Given the description of an element on the screen output the (x, y) to click on. 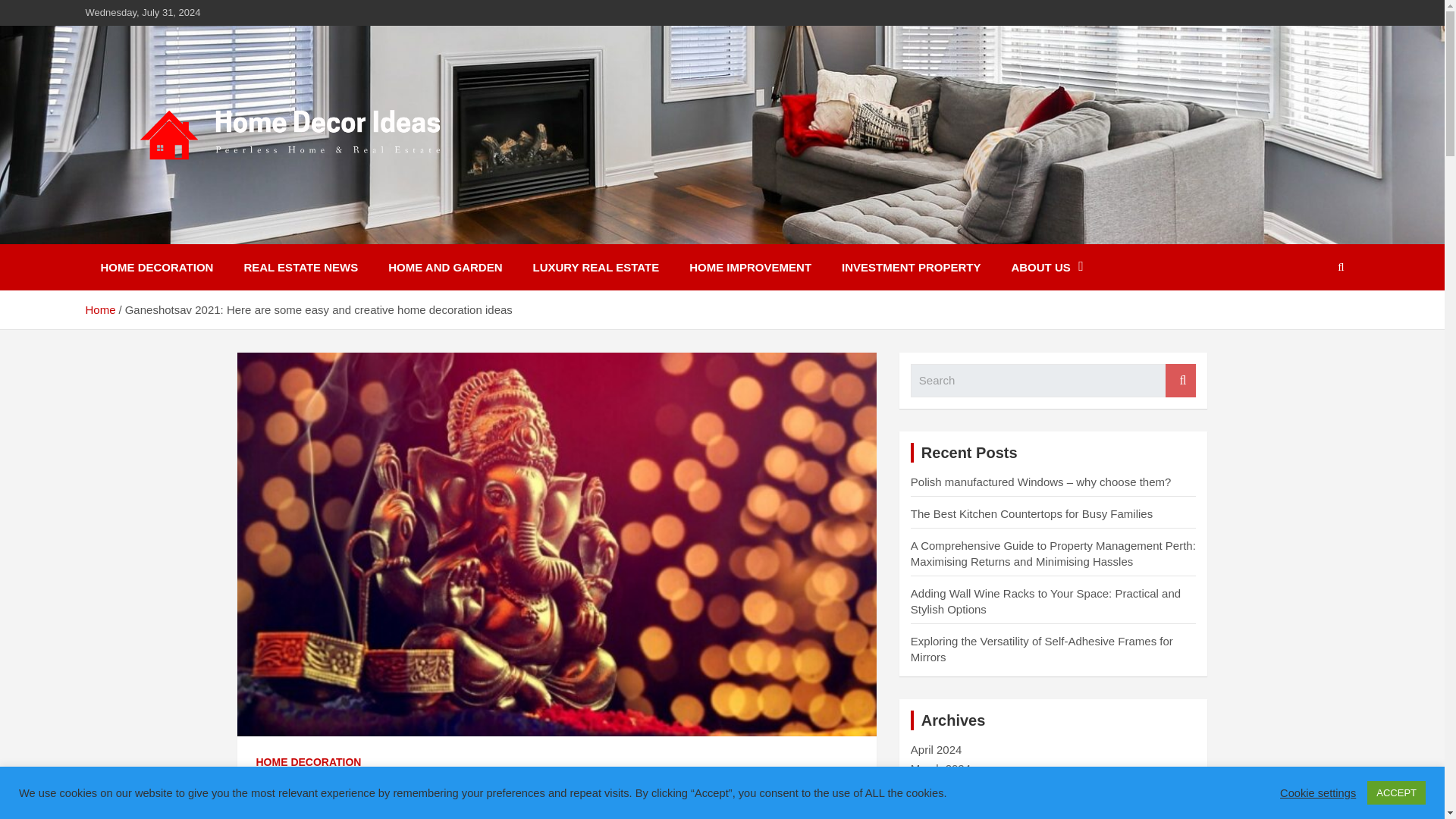
The Best Kitchen Countertops for Busy Families (1032, 513)
Home Decor Ideas (216, 233)
April 2024 (936, 748)
November 2023 (951, 806)
Home (99, 309)
HOME AND GARDEN (444, 267)
HOME DECORATION (156, 267)
HOME DECORATION (308, 762)
January 2024 (945, 787)
HOME IMPROVEMENT (750, 267)
March 2024 (941, 768)
ABOUT US (1046, 267)
